Given the description of an element on the screen output the (x, y) to click on. 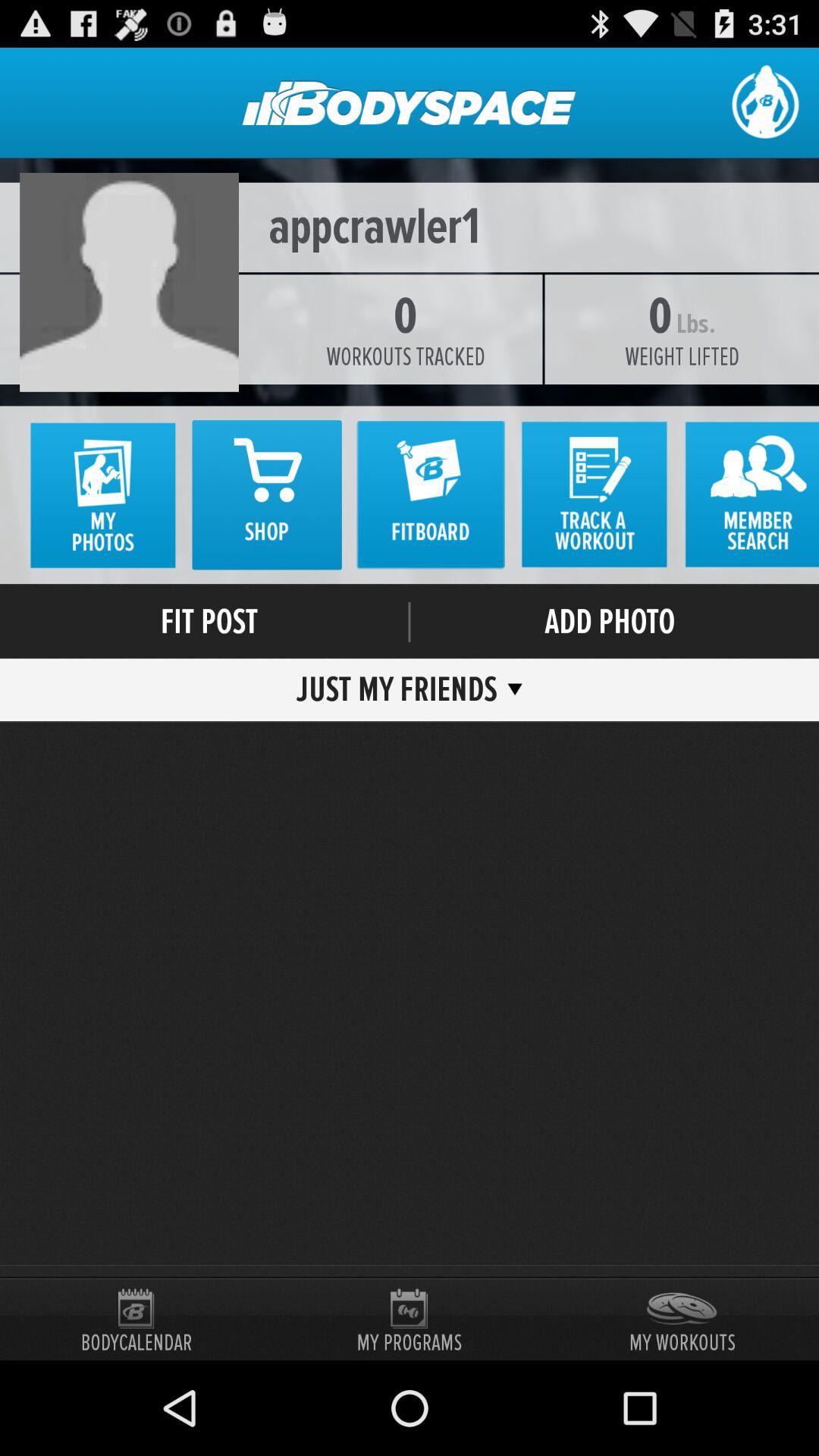
press appcrawler1 icon (409, 227)
